Given the description of an element on the screen output the (x, y) to click on. 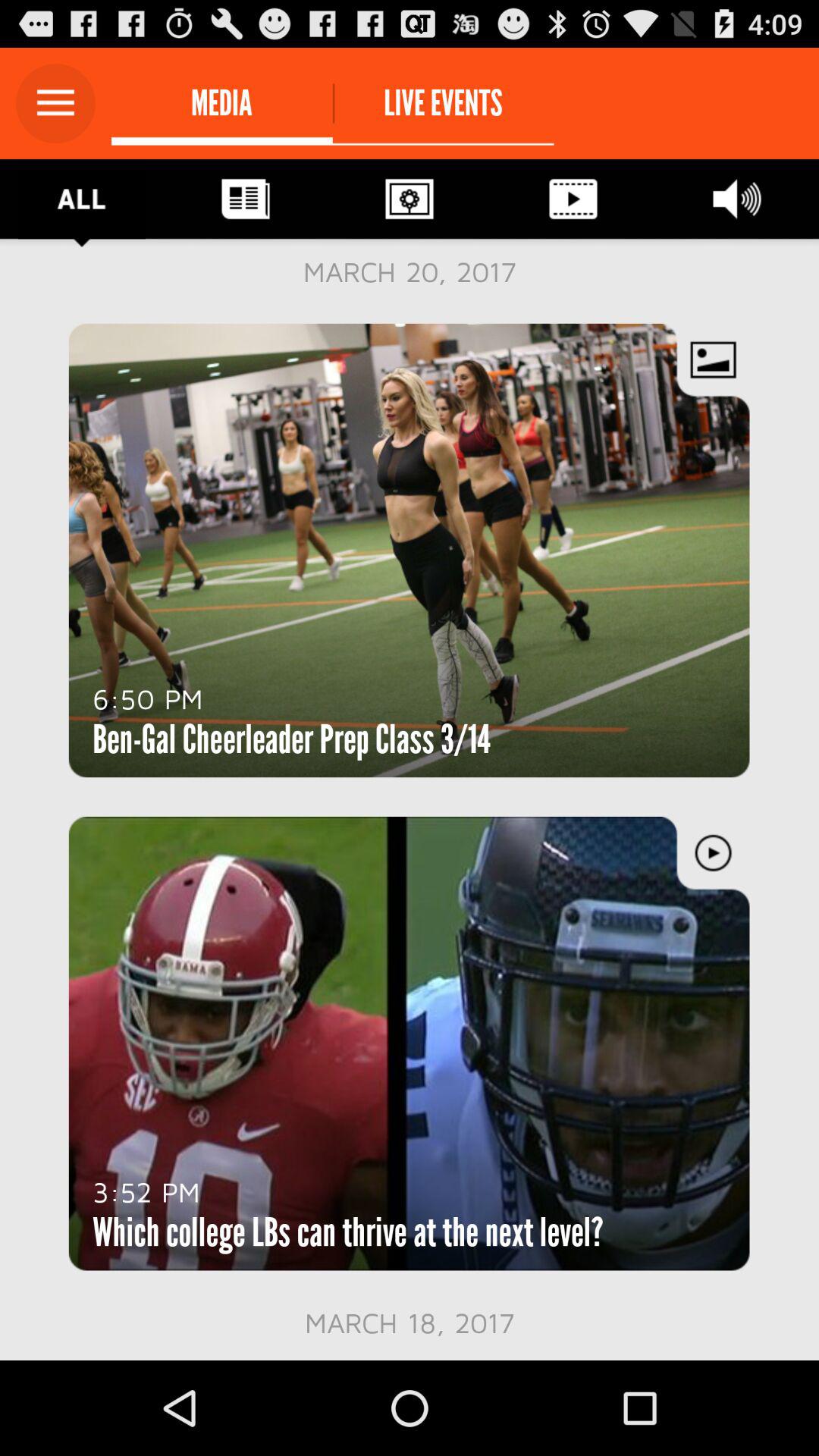
flip to 3:52 pm (146, 1191)
